Given the description of an element on the screen output the (x, y) to click on. 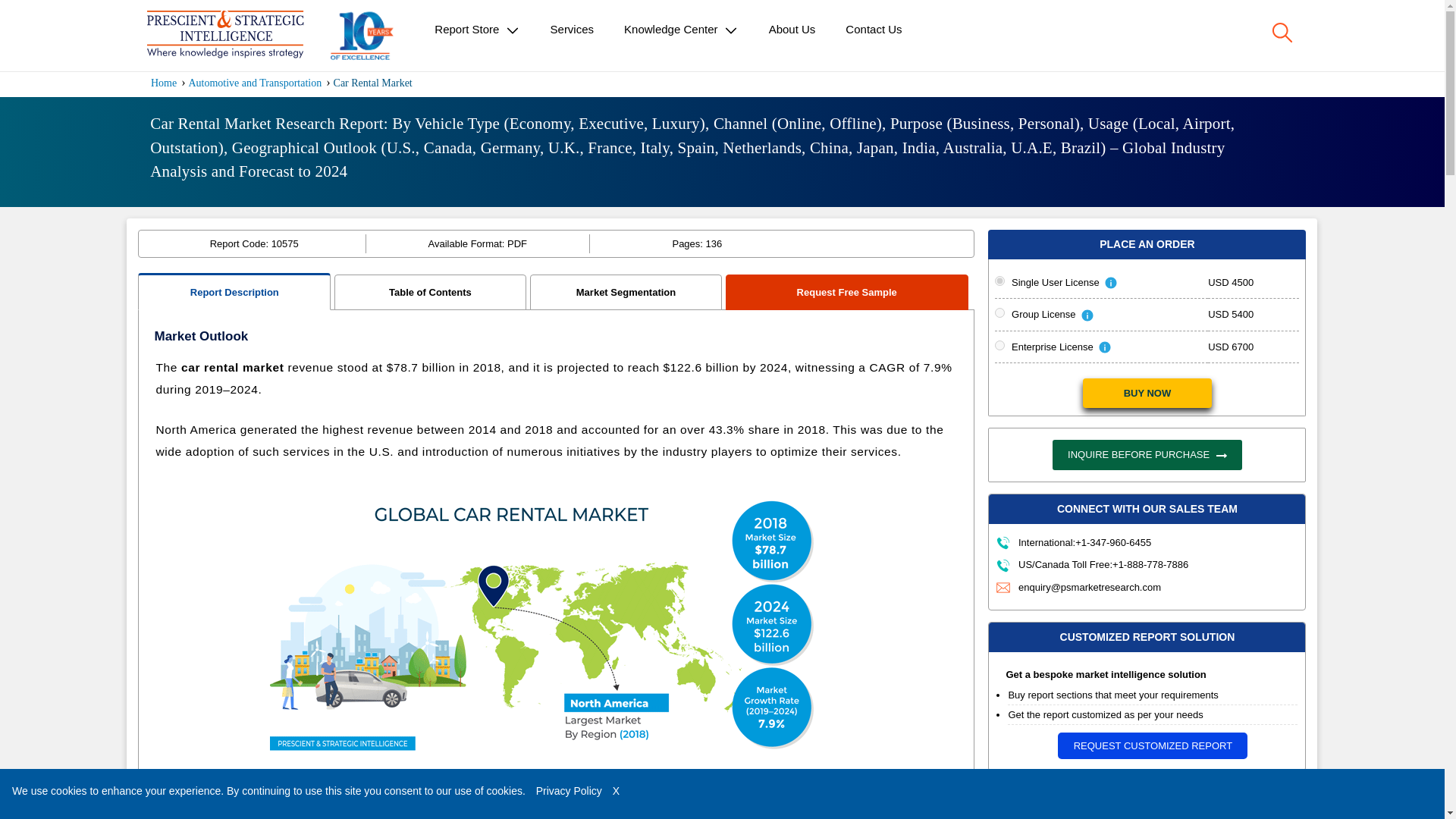
2173 (999, 280)
Services (572, 28)
Report Store (476, 30)
2175 (999, 312)
Request free sample (648, 812)
About Us (792, 28)
Table of Contents (429, 291)
INQUIRE BEFORE PURCHASE (1146, 454)
Search (1282, 32)
